Given the description of an element on the screen output the (x, y) to click on. 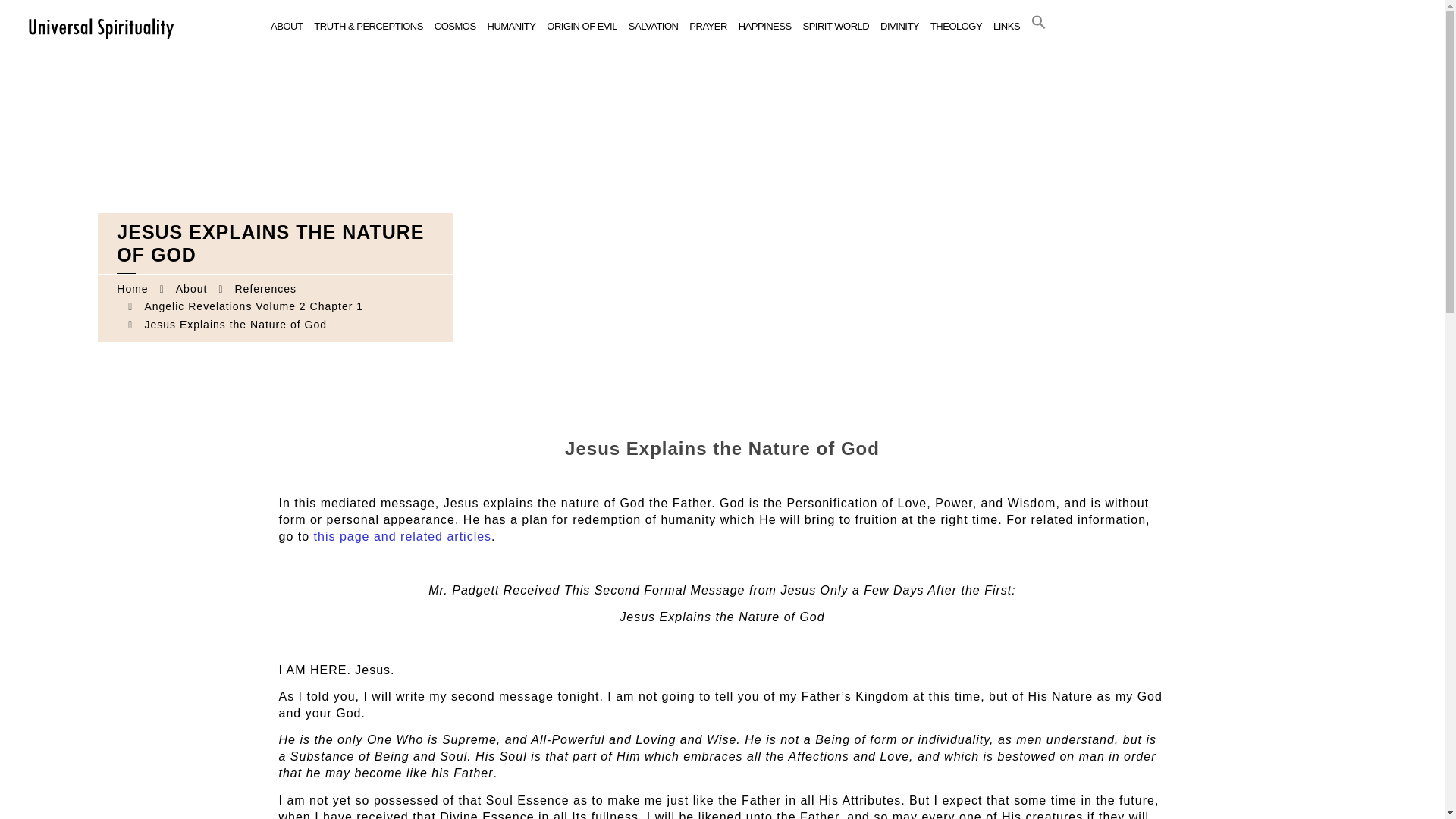
Angelic Revelations Volume 2 Chapter 1 (253, 306)
COSMOS (455, 26)
References (265, 288)
About (192, 288)
HUMANITY (511, 26)
My Spiritual Journey (100, 26)
